Given the description of an element on the screen output the (x, y) to click on. 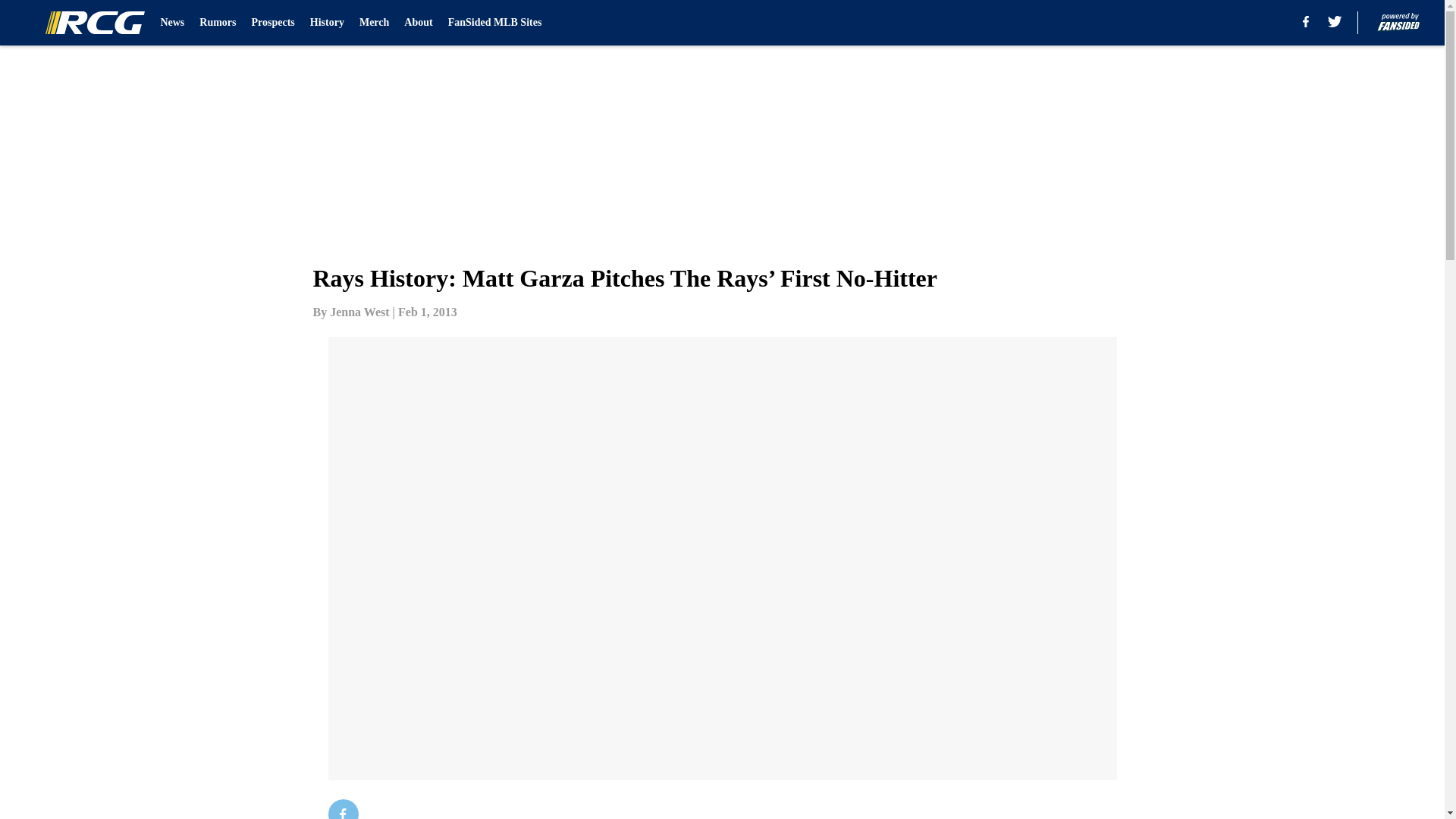
Merch (373, 22)
Rumors (217, 22)
About (418, 22)
Prospects (273, 22)
News (172, 22)
History (326, 22)
FanSided MLB Sites (494, 22)
